Given the description of an element on the screen output the (x, y) to click on. 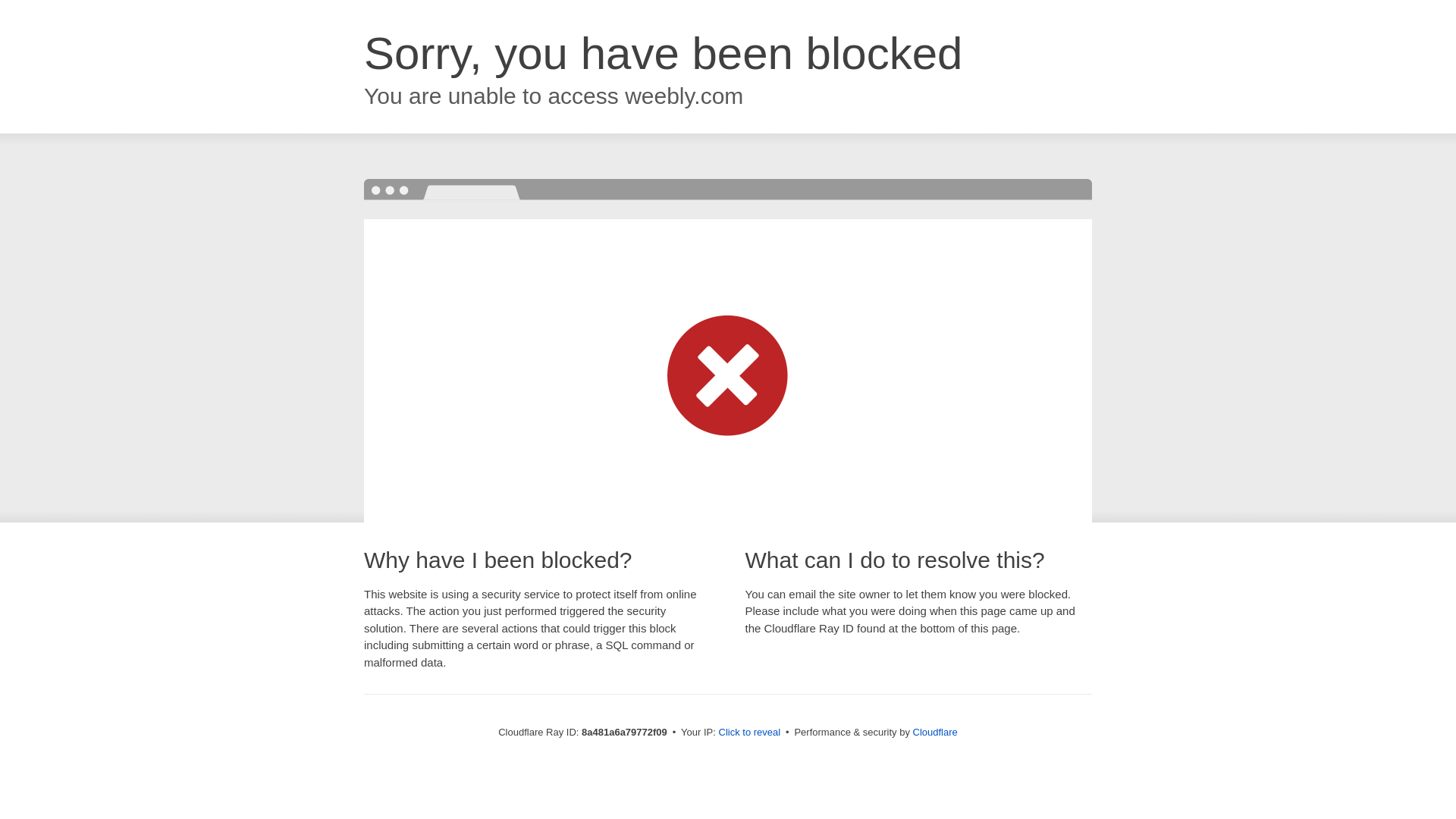
Cloudflare (935, 731)
Click to reveal (749, 732)
